Given the description of an element on the screen output the (x, y) to click on. 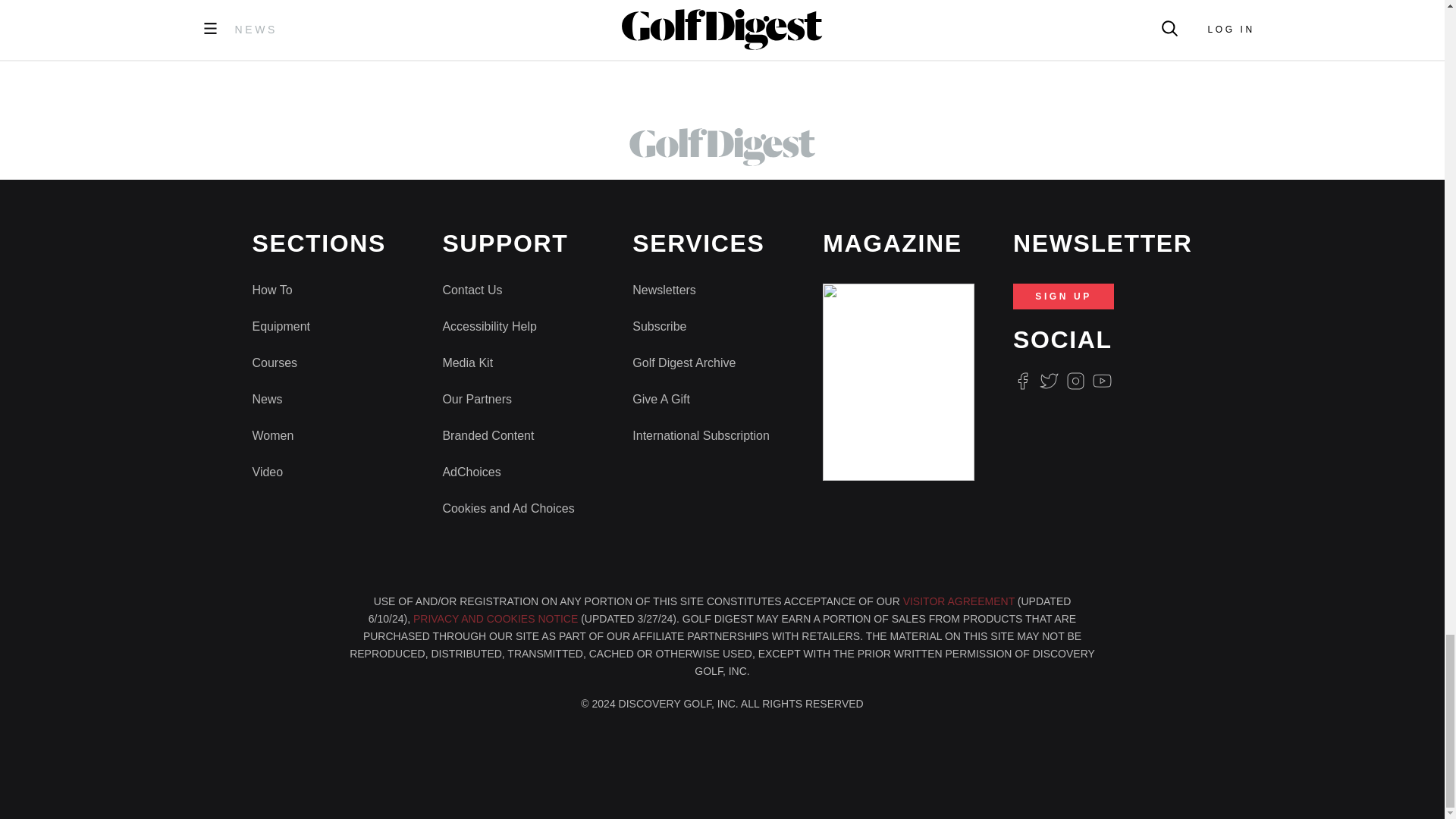
Twitter Logo (1048, 380)
Instagram Logo (1074, 380)
Facebook Logo (1022, 380)
Youtube Icon (1102, 380)
